Given the description of an element on the screen output the (x, y) to click on. 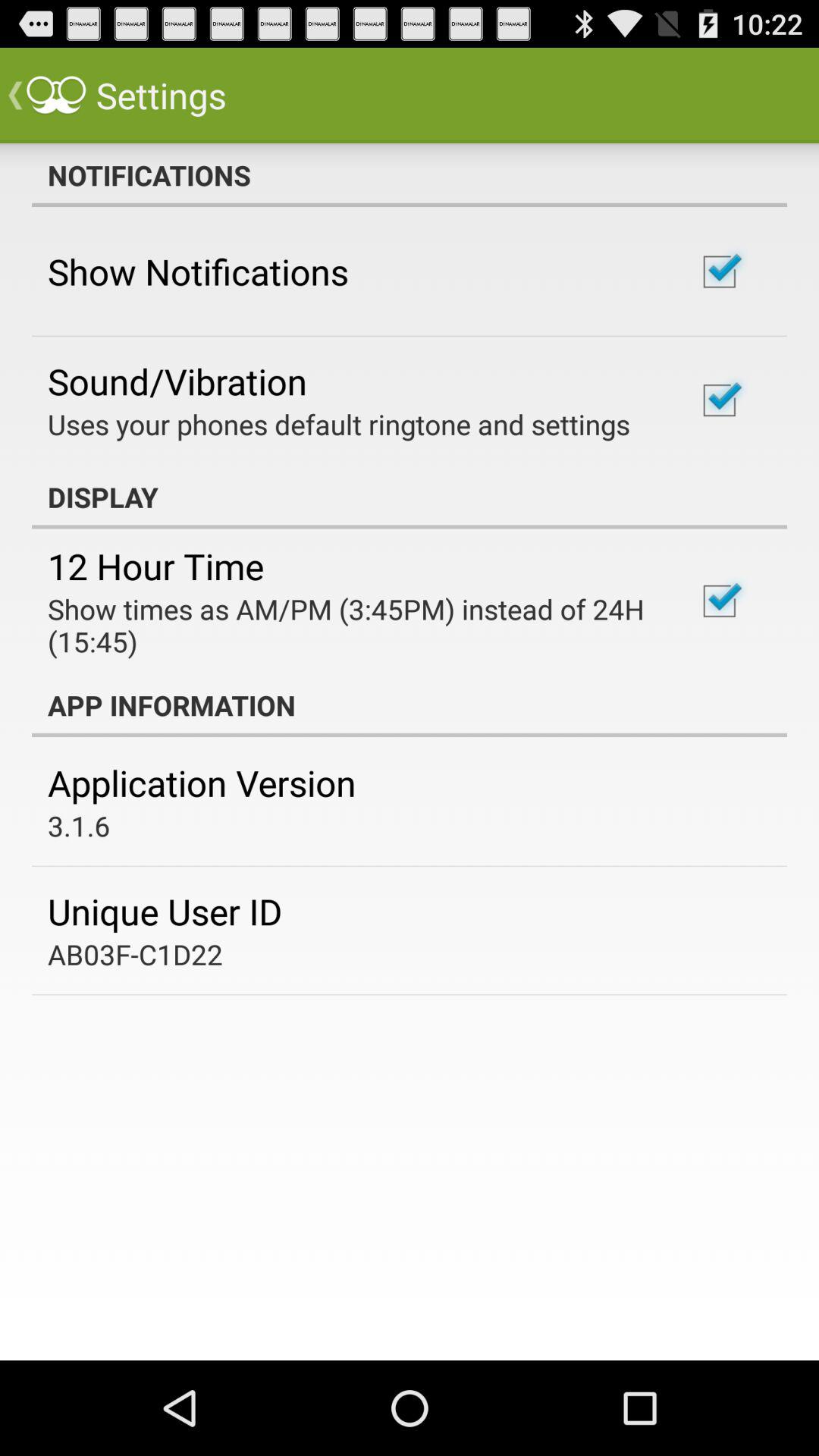
turn off the item below 3.1.6 (164, 911)
